Given the description of an element on the screen output the (x, y) to click on. 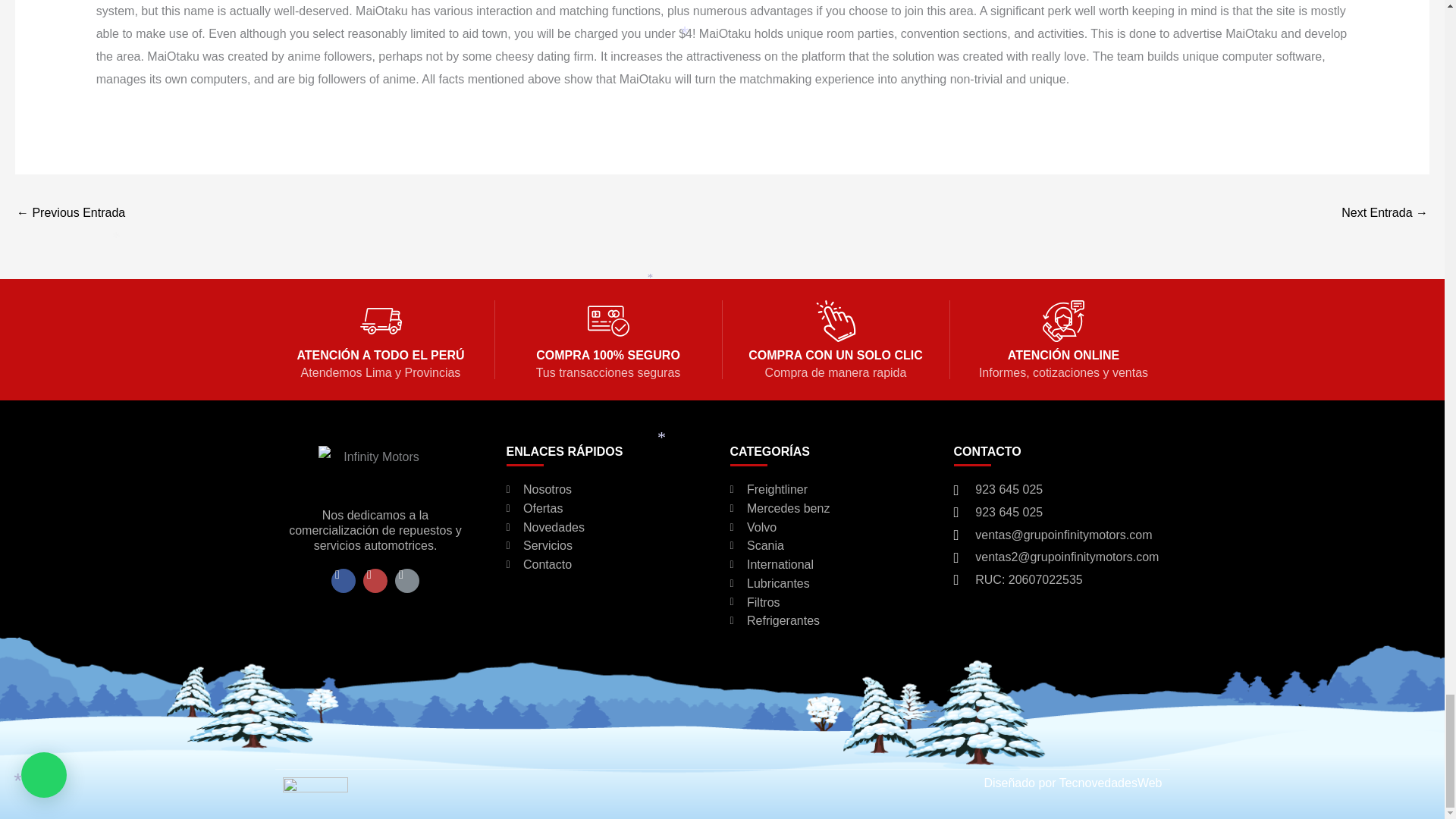
What Are the Most dependable Online Dating Sites? (1384, 213)
